Given the description of an element on the screen output the (x, y) to click on. 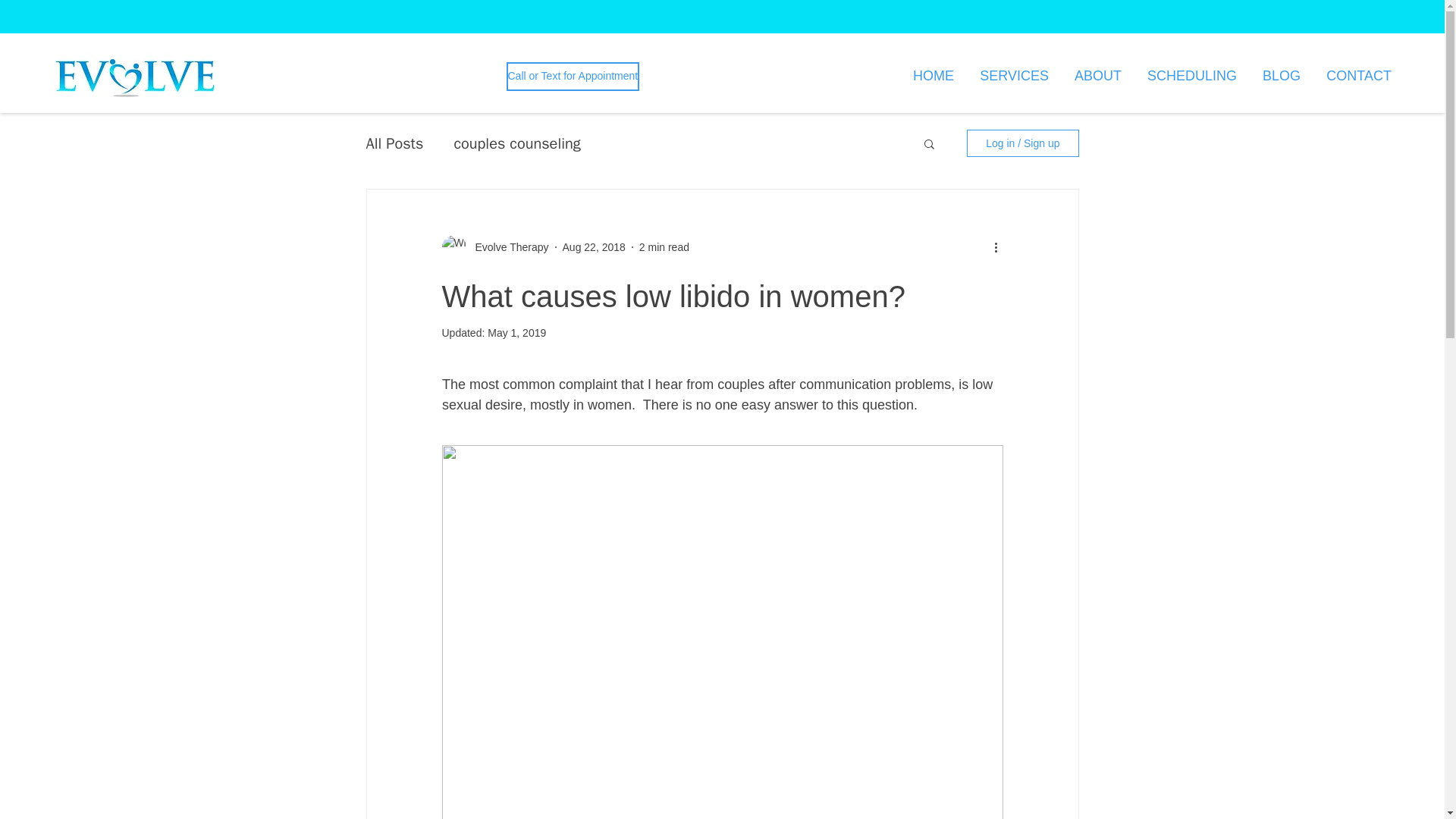
SERVICES (1012, 75)
couples counseling (515, 143)
BLOG (1279, 75)
SCHEDULING (1189, 75)
Call or Text for Appointment (573, 76)
May 1, 2019 (516, 332)
CONTACT (1357, 75)
Aug 22, 2018 (594, 246)
ABOUT (1095, 75)
2 min read (663, 246)
